Given the description of an element on the screen output the (x, y) to click on. 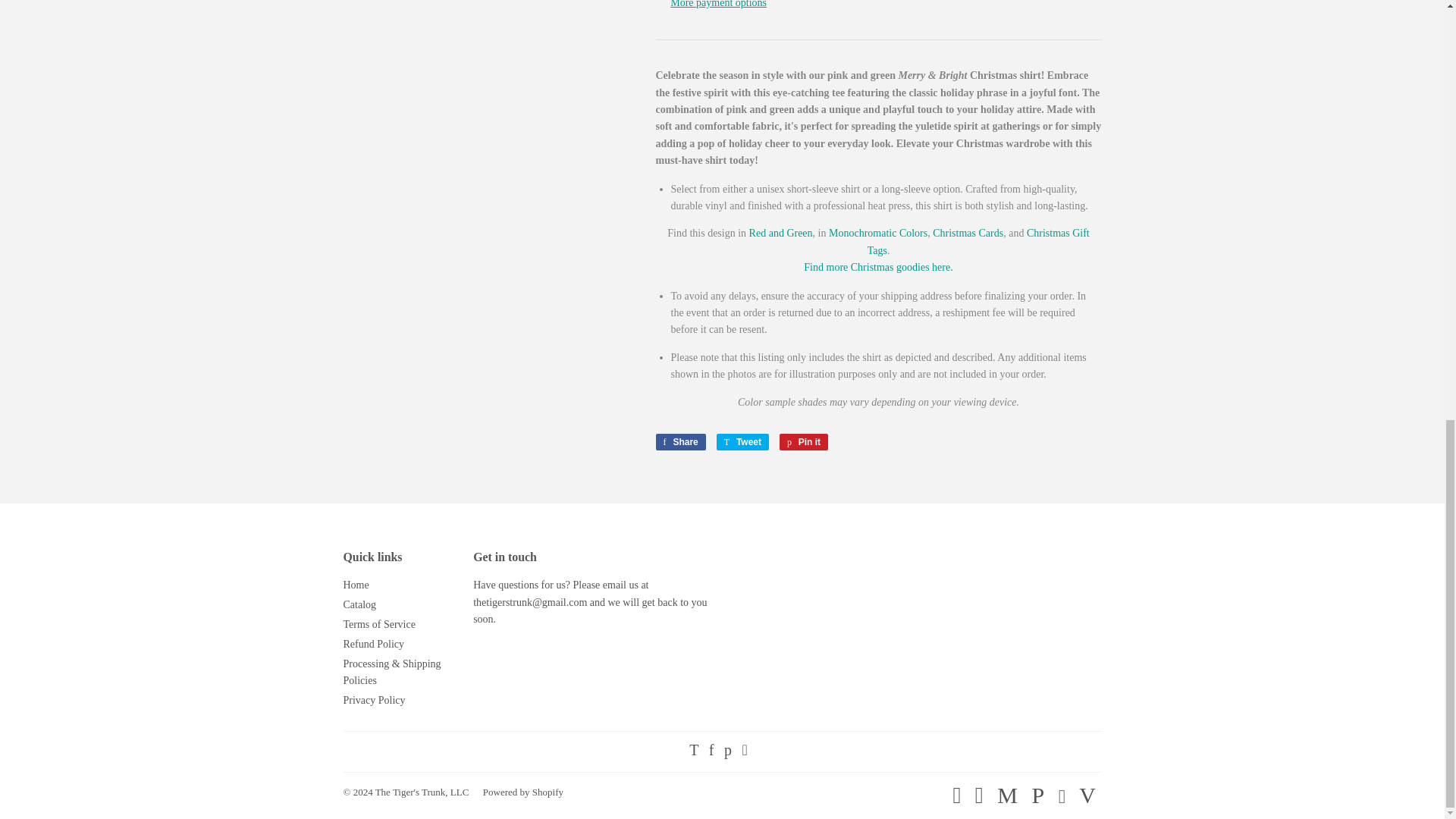
Pin on Pinterest (803, 442)
Tweet on Twitter (742, 442)
Christmas (877, 266)
Share on Facebook (679, 442)
